Given the description of an element on the screen output the (x, y) to click on. 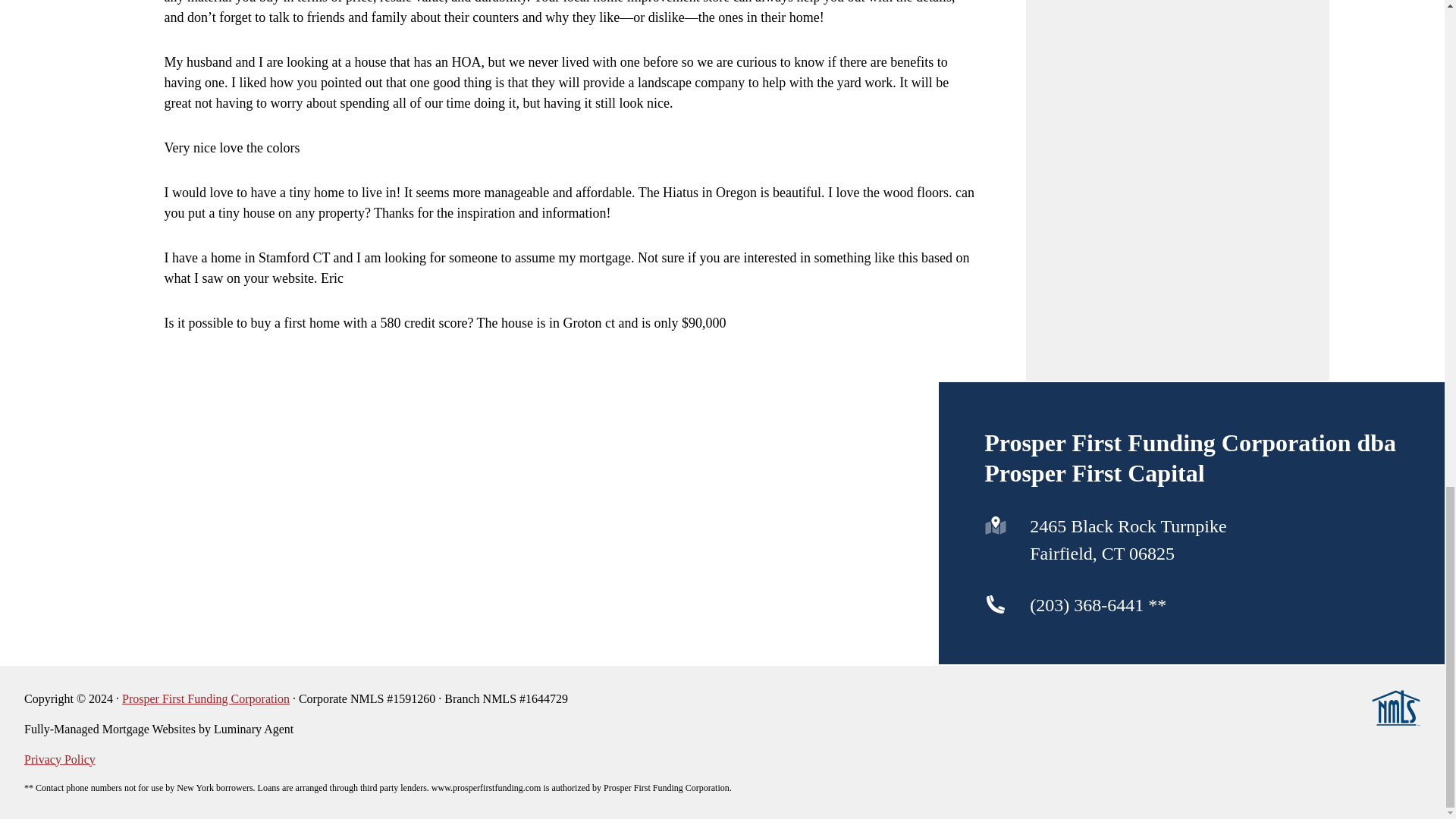
Privacy Policy (60, 758)
Prosper First Funding Corporation (205, 698)
